Given the description of an element on the screen output the (x, y) to click on. 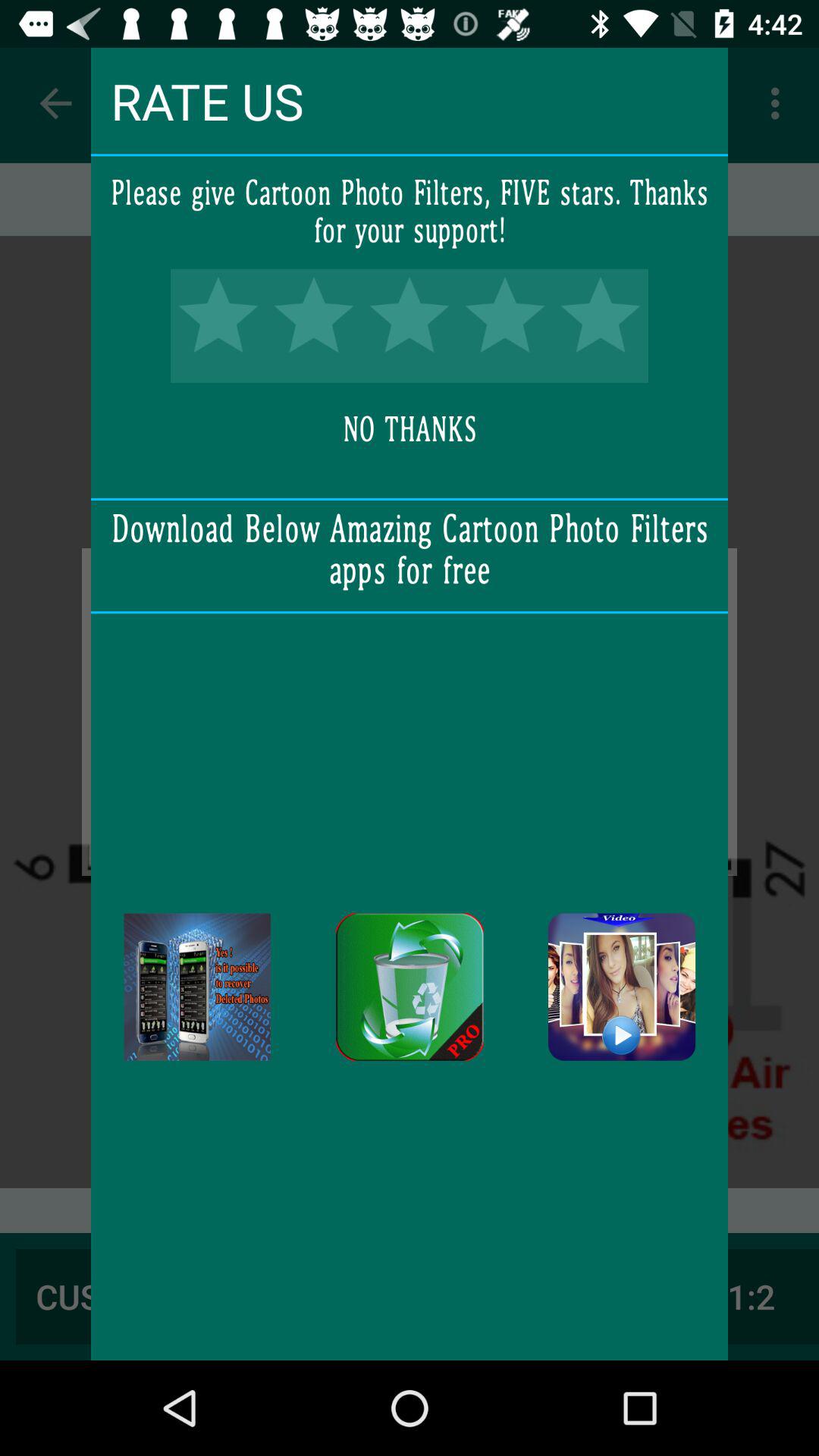
choose the icon at the bottom left corner (197, 986)
